Given the description of an element on the screen output the (x, y) to click on. 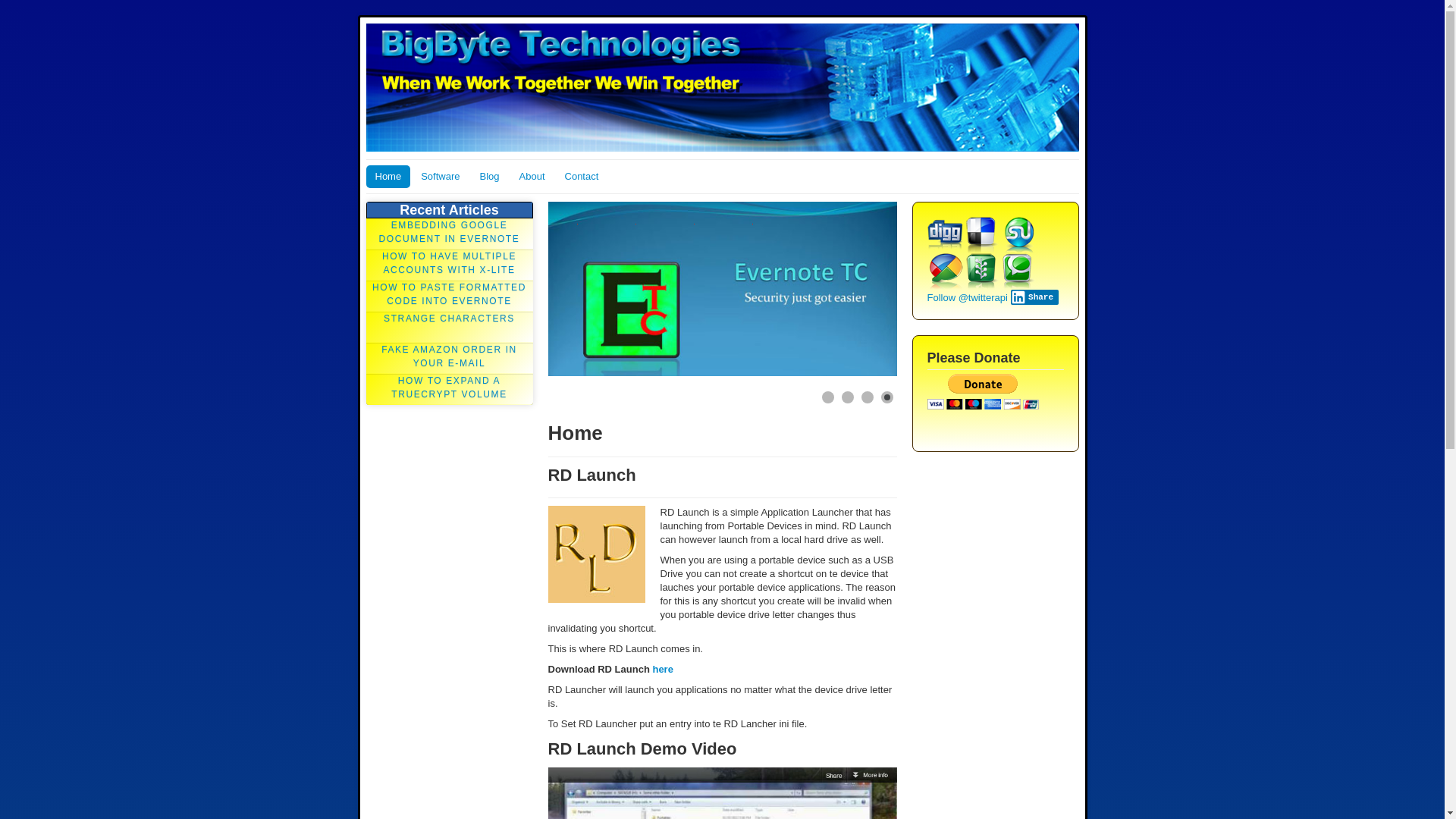
TrueCrypt Element type: text (774, 320)
Digg Element type: hover (944, 234)
Software Element type: text (439, 176)
Google Bookmarks Element type: hover (944, 271)
here Element type: text (662, 668)
Delicious Element type: hover (981, 234)
STRANGE CHARACTERS Element type: text (448, 326)
Follow @twitterapi Element type: text (966, 297)
FAKE AMAZON ORDER IN YOUR E-MAIL Element type: text (448, 357)
newsvine Element type: hover (981, 271)
Share Element type: text (1034, 296)
Blog Element type: text (489, 176)
About Element type: text (532, 176)
HOW TO PASTE FORMATTED CODE INTO EVERNOTE Element type: text (448, 295)
EMBEDDING GOOGLE DOCUMENT IN EVERNOTE Element type: text (448, 233)
HOW TO HAVE MULTIPLE ACCOUNTS WITH X-LITE Element type: text (448, 264)
technorati Element type: hover (1017, 271)
HOW TO EXPAND A TRUECRYPT VOLUME Element type: text (448, 388)
Contact Element type: text (581, 176)
Stumbleupon Element type: hover (1017, 234)
Home Element type: text (387, 176)
